Given the description of an element on the screen output the (x, y) to click on. 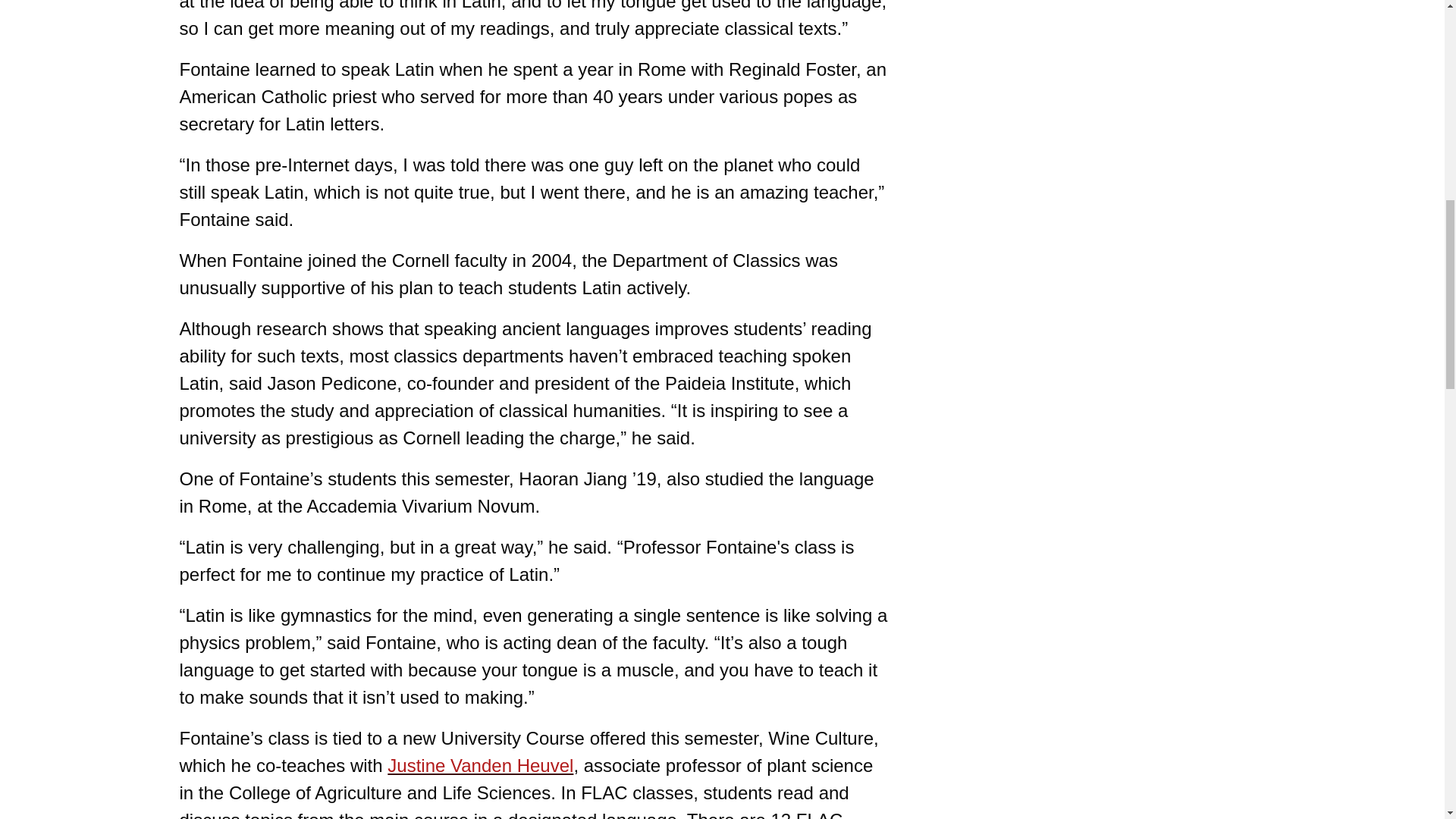
Justine Vanden Heuvel (480, 765)
